Given the description of an element on the screen output the (x, y) to click on. 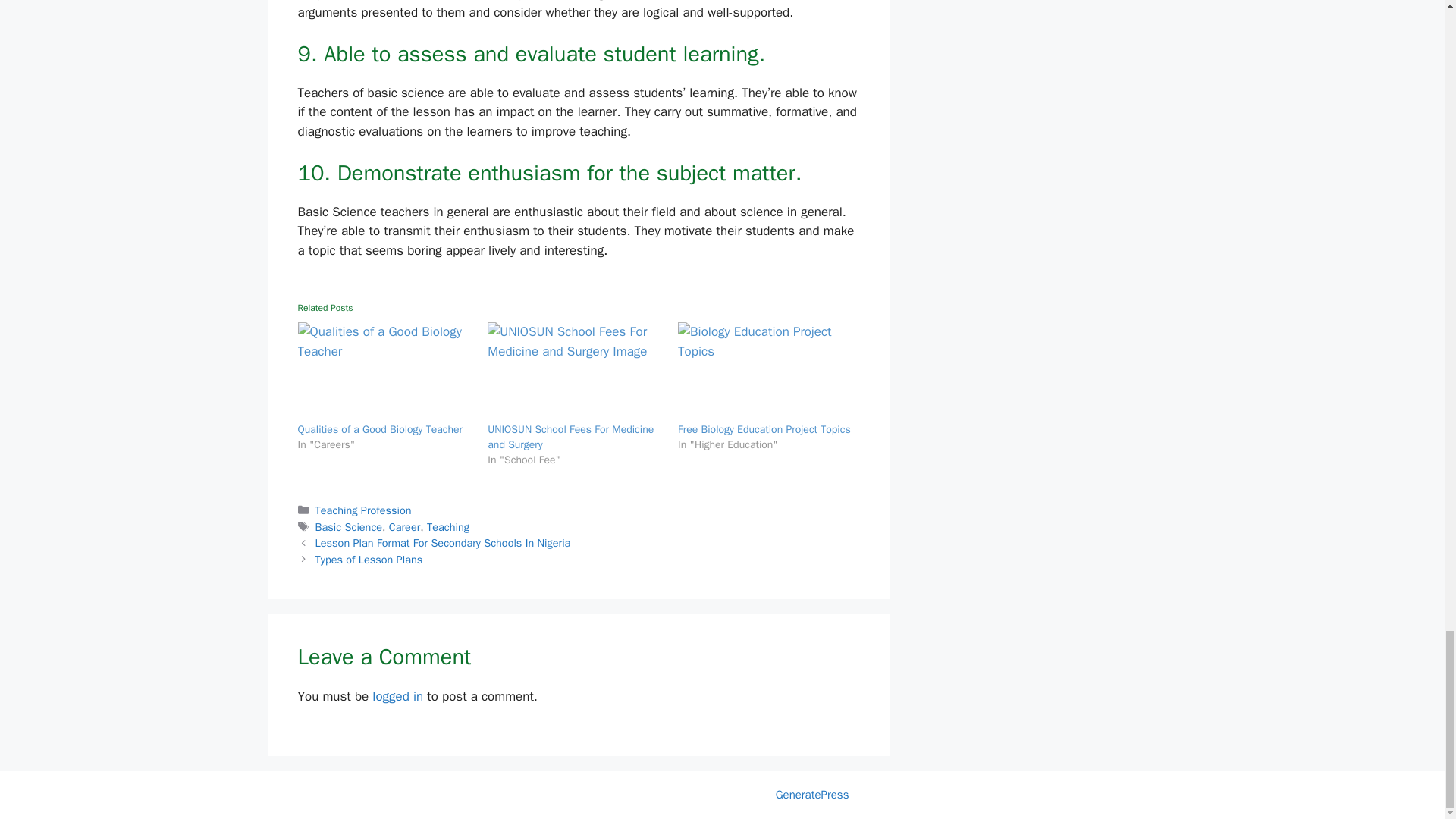
Free Biology Education Project Topics (764, 429)
logged in (397, 696)
Lesson Plan Format For Secondary Schools In Nigeria (442, 542)
Qualities of a Good Biology Teacher (380, 429)
UNIOSUN School Fees For Medicine and Surgery (574, 372)
UNIOSUN School Fees For Medicine and Surgery (570, 437)
Free Biology Education Project Topics (764, 429)
UNIOSUN School Fees For Medicine and Surgery (570, 437)
Teaching (447, 526)
Qualities of a Good Biology Teacher (384, 372)
Qualities of a Good Biology Teacher (380, 429)
Career (404, 526)
GeneratePress (812, 794)
Teaching Profession (363, 509)
Types of Lesson Plans (369, 559)
